Given the description of an element on the screen output the (x, y) to click on. 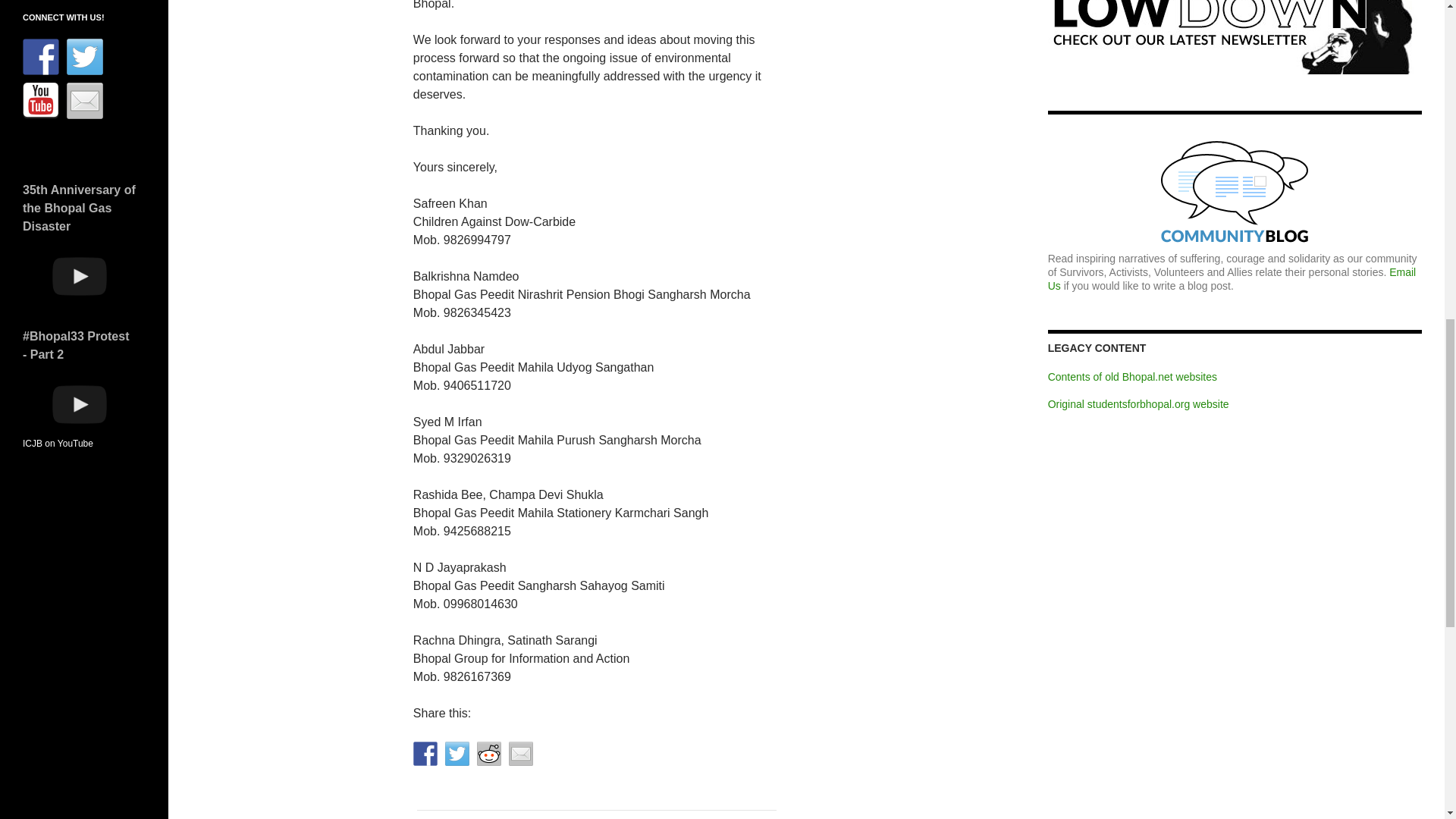
Share on Reddit (488, 753)
Share on Facebook (425, 753)
Share by email (520, 753)
Tweet this! (456, 753)
